Given the description of an element on the screen output the (x, y) to click on. 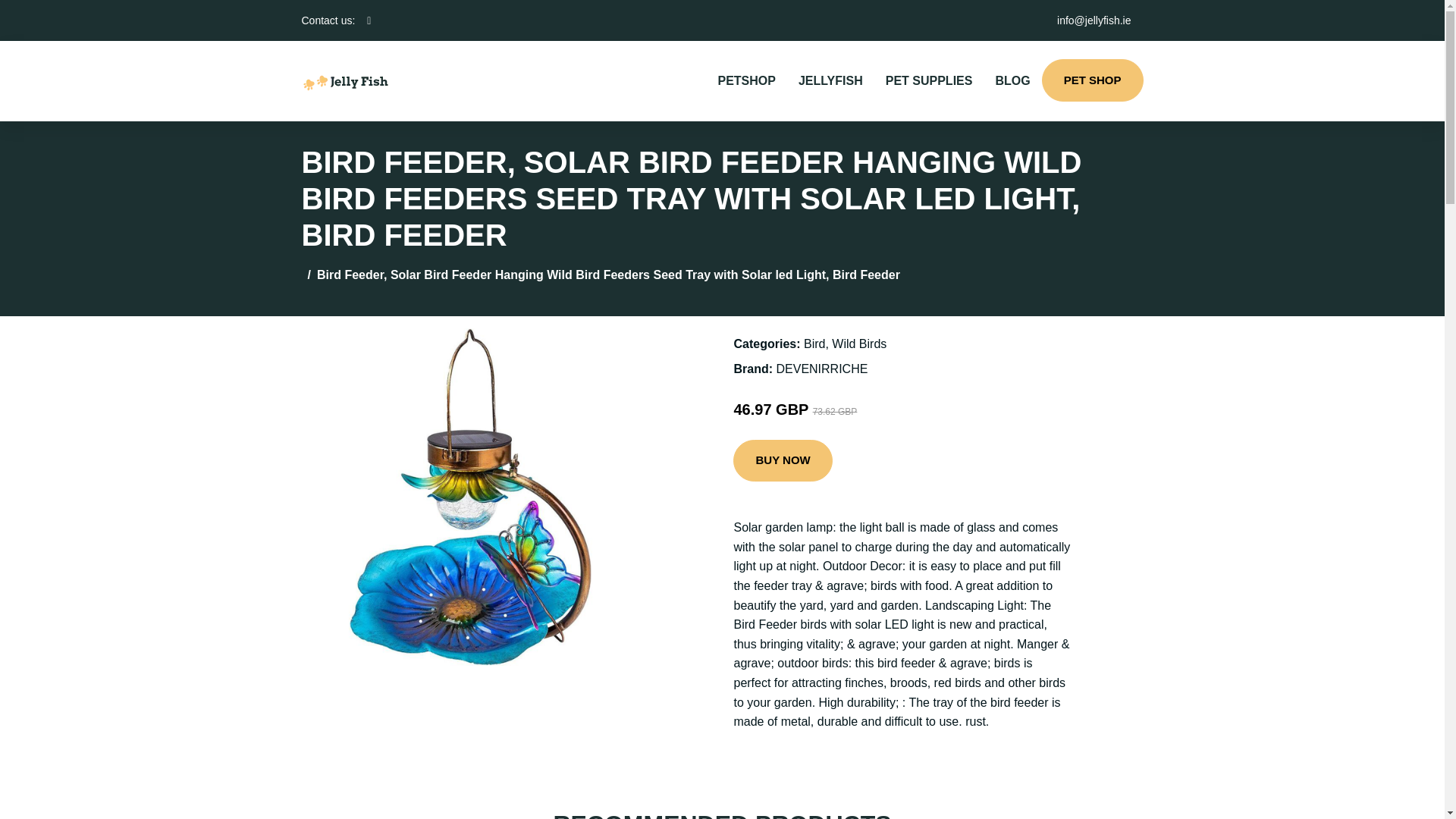
JELLYFISH (831, 80)
Bird (814, 343)
BUY NOW (782, 460)
Wild Birds (858, 343)
PETSHOP (746, 80)
PET SHOP (1092, 79)
PET SUPPLIES (929, 80)
